Given the description of an element on the screen output the (x, y) to click on. 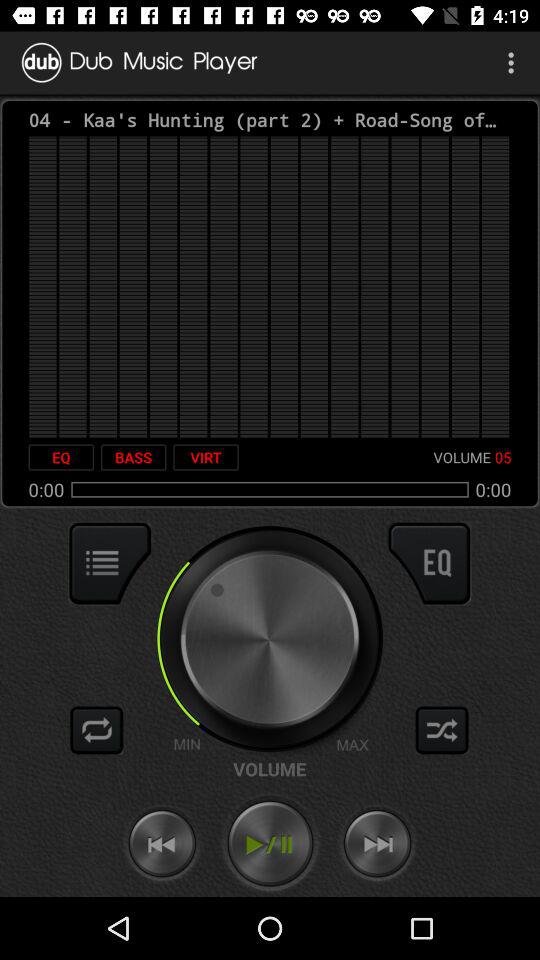
move forward (377, 844)
